Given the description of an element on the screen output the (x, y) to click on. 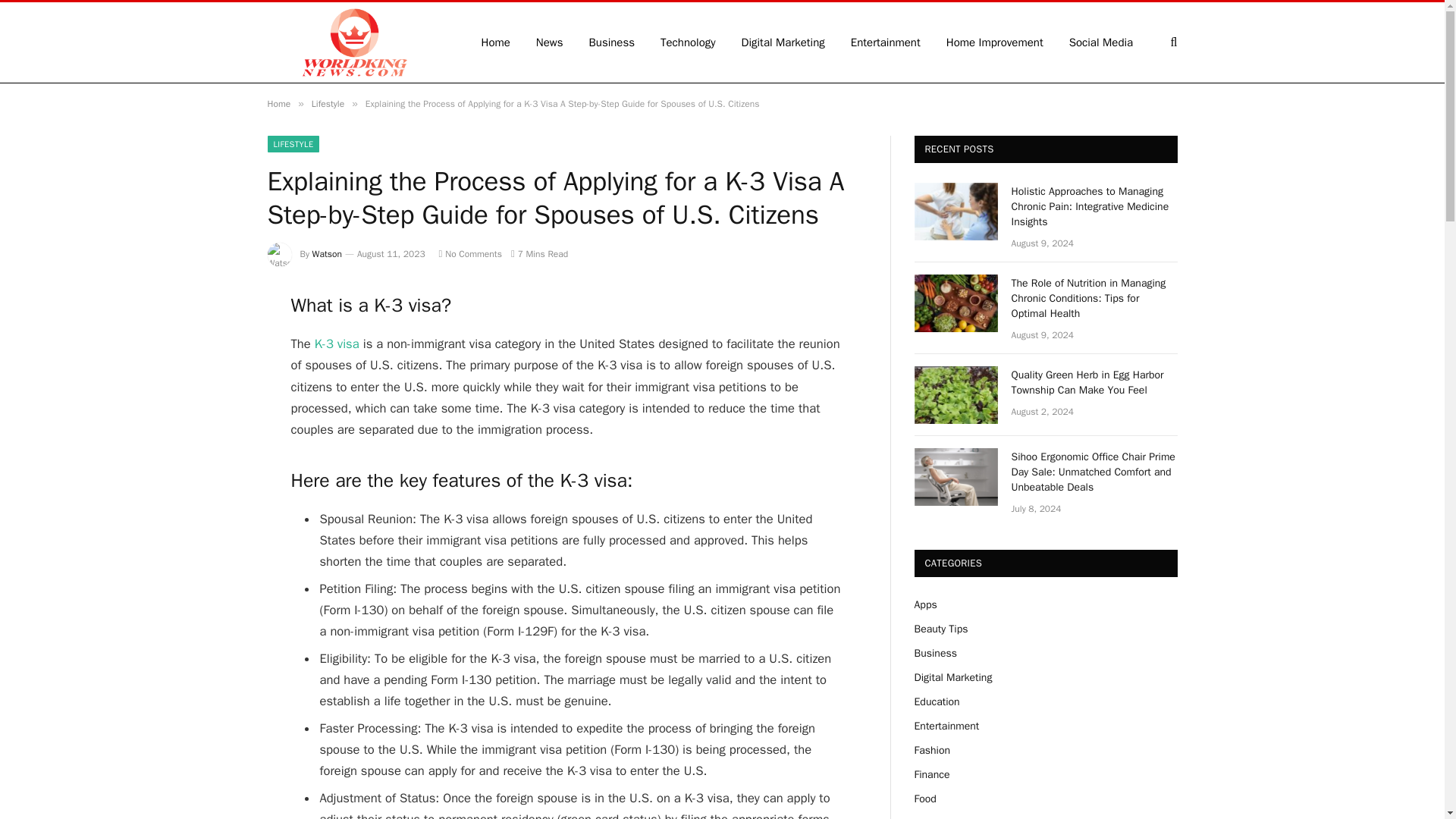
LIFESTYLE (292, 143)
Business (611, 42)
Technology (688, 42)
Digital Marketing (953, 676)
Quality Green Herb in Egg Harbor Township Can Make You Feel (1094, 382)
Home Improvement (995, 42)
Education (936, 701)
Entertainment (946, 725)
Lifestyle (327, 103)
